Given the description of an element on the screen output the (x, y) to click on. 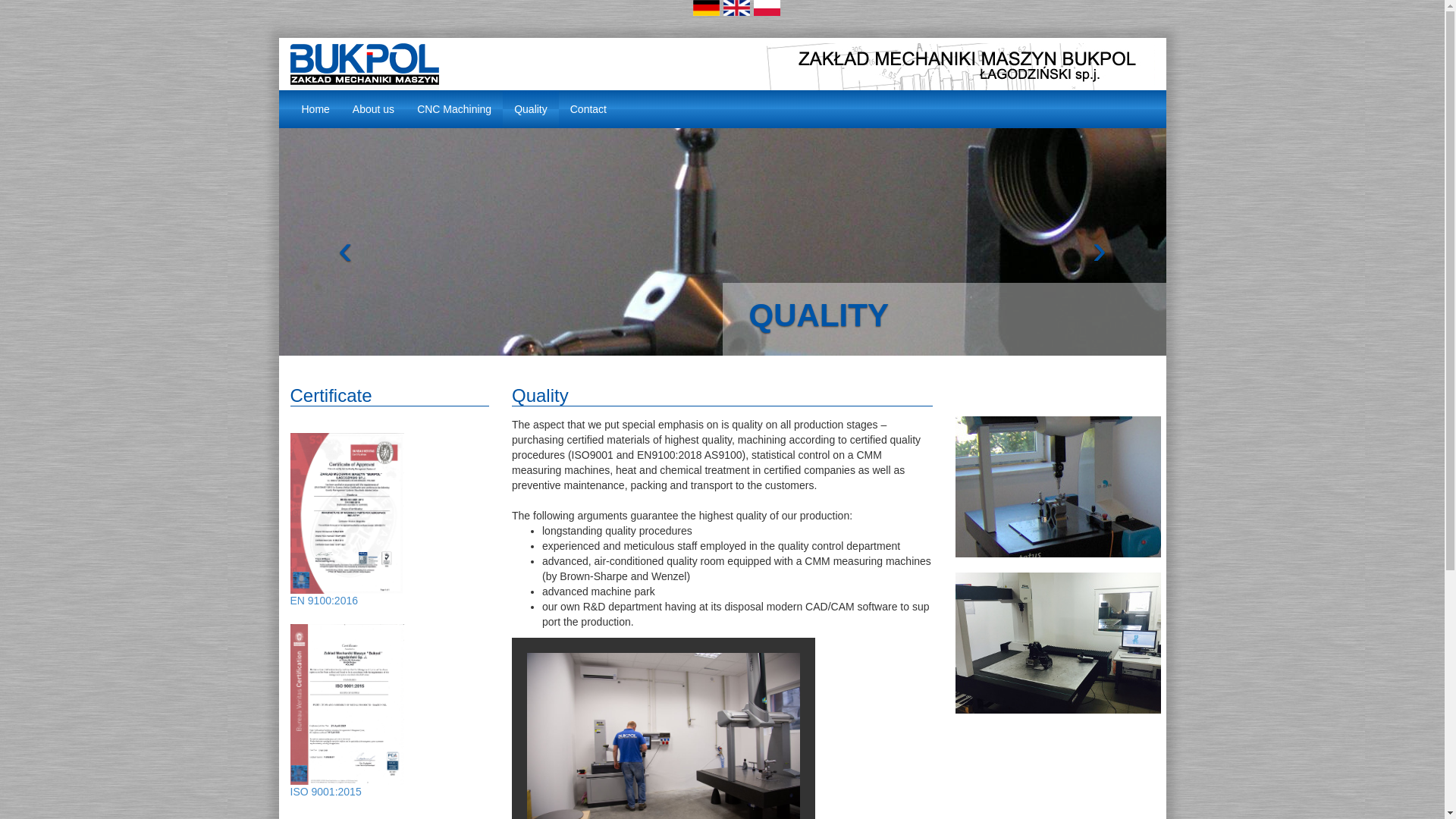
DE (706, 7)
EN 9100:2016 (346, 652)
Quality (530, 108)
CNC Machining (454, 108)
ISO 9001:2015 (325, 791)
About us (373, 108)
EN (736, 7)
PL (767, 7)
Contact (588, 108)
Home (314, 108)
